Given the description of an element on the screen output the (x, y) to click on. 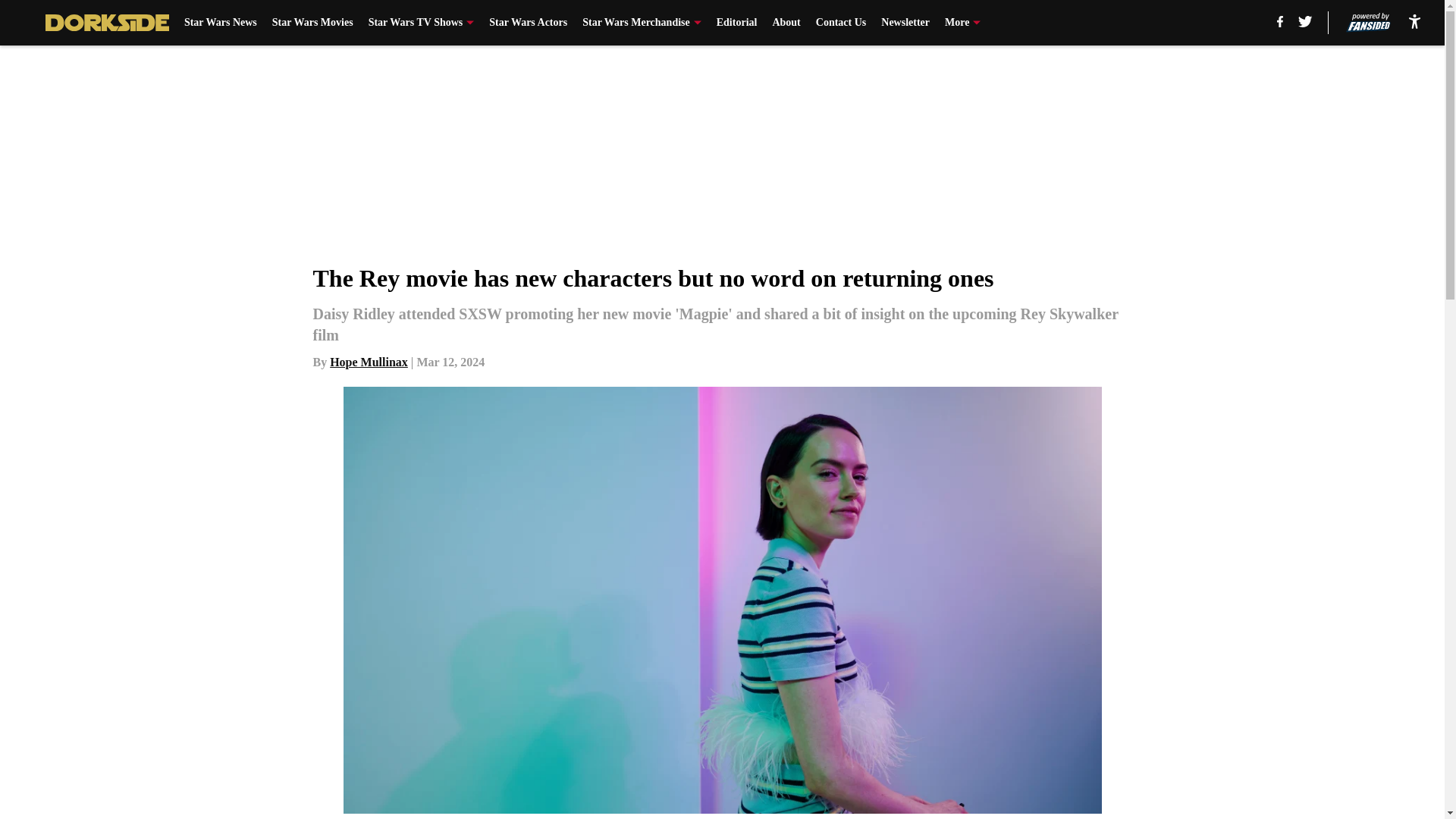
Star Wars Movies (312, 22)
Newsletter (905, 22)
More (961, 22)
Star Wars Actors (528, 22)
Hope Mullinax (368, 361)
Star Wars News (220, 22)
About (785, 22)
Contact Us (840, 22)
Editorial (736, 22)
Star Wars TV Shows (421, 22)
Star Wars Merchandise (641, 22)
